Given the description of an element on the screen output the (x, y) to click on. 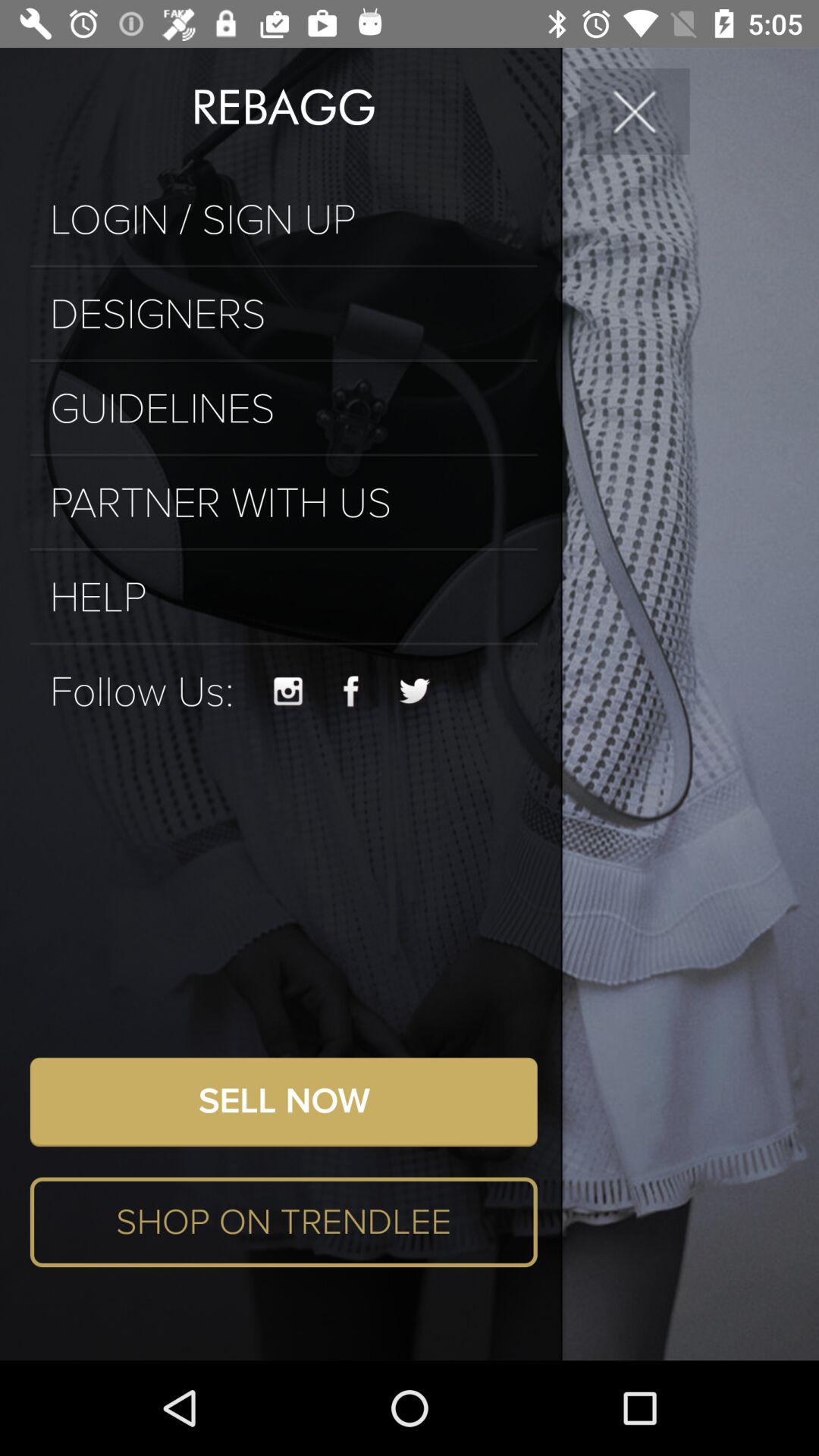
turn on icon to the right of the follow us: (288, 691)
